Given the description of an element on the screen output the (x, y) to click on. 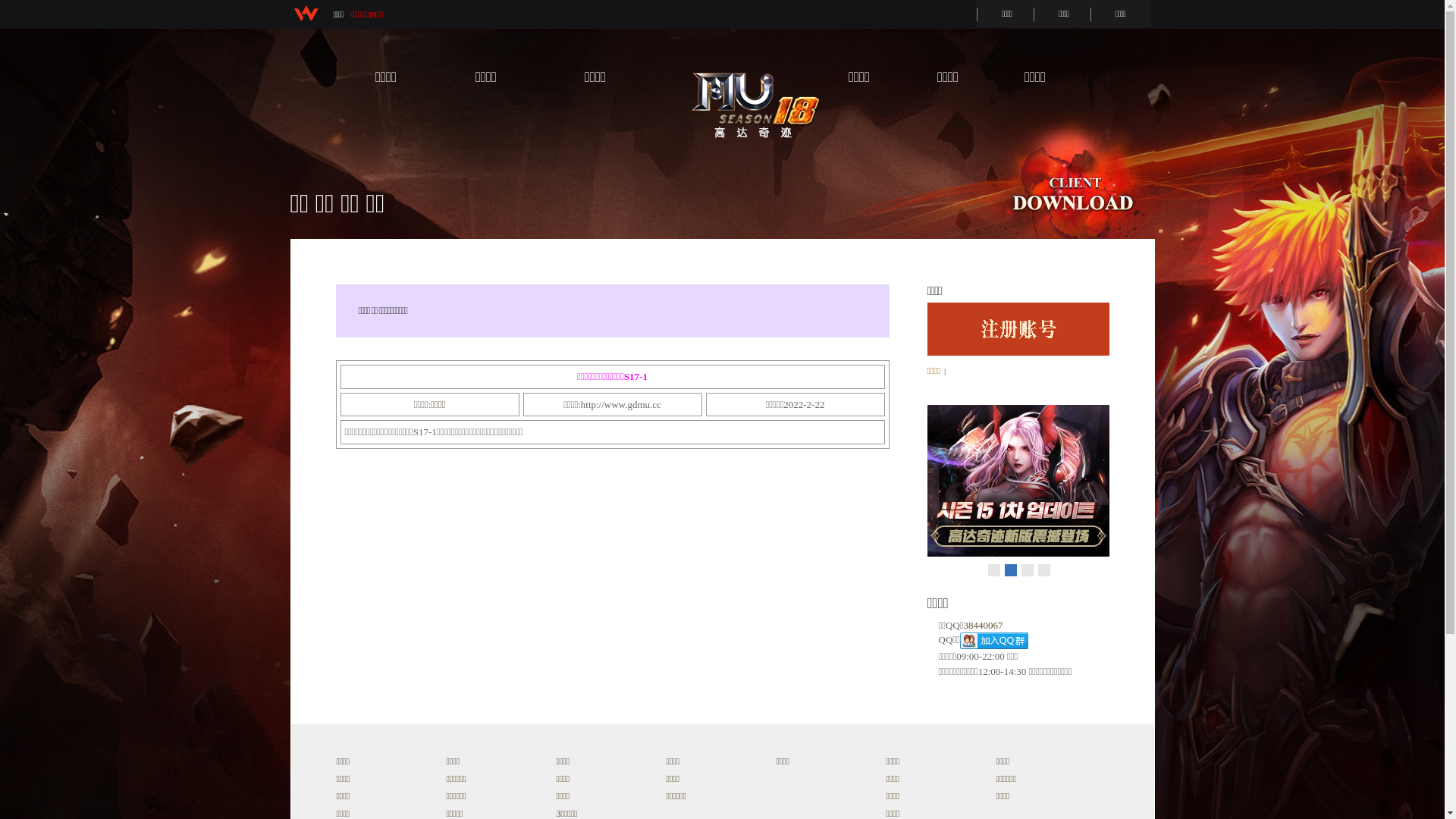
3 Element type: text (1027, 570)
1 Element type: text (994, 570)
38440067 Element type: text (983, 624)
2 Element type: text (1010, 570)
4 Element type: text (1044, 570)
